Given the description of an element on the screen output the (x, y) to click on. 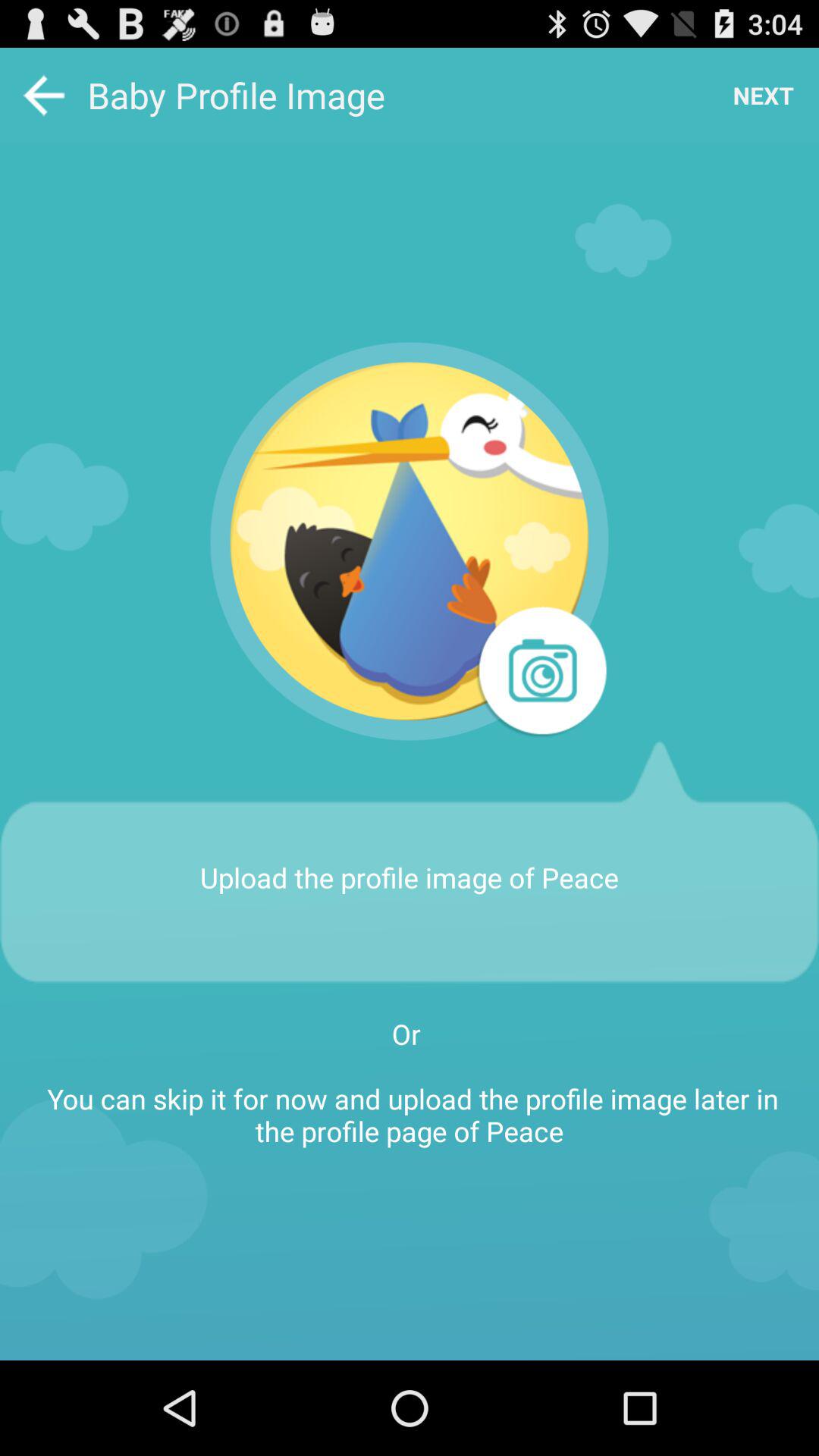
profile image (409, 541)
